Given the description of an element on the screen output the (x, y) to click on. 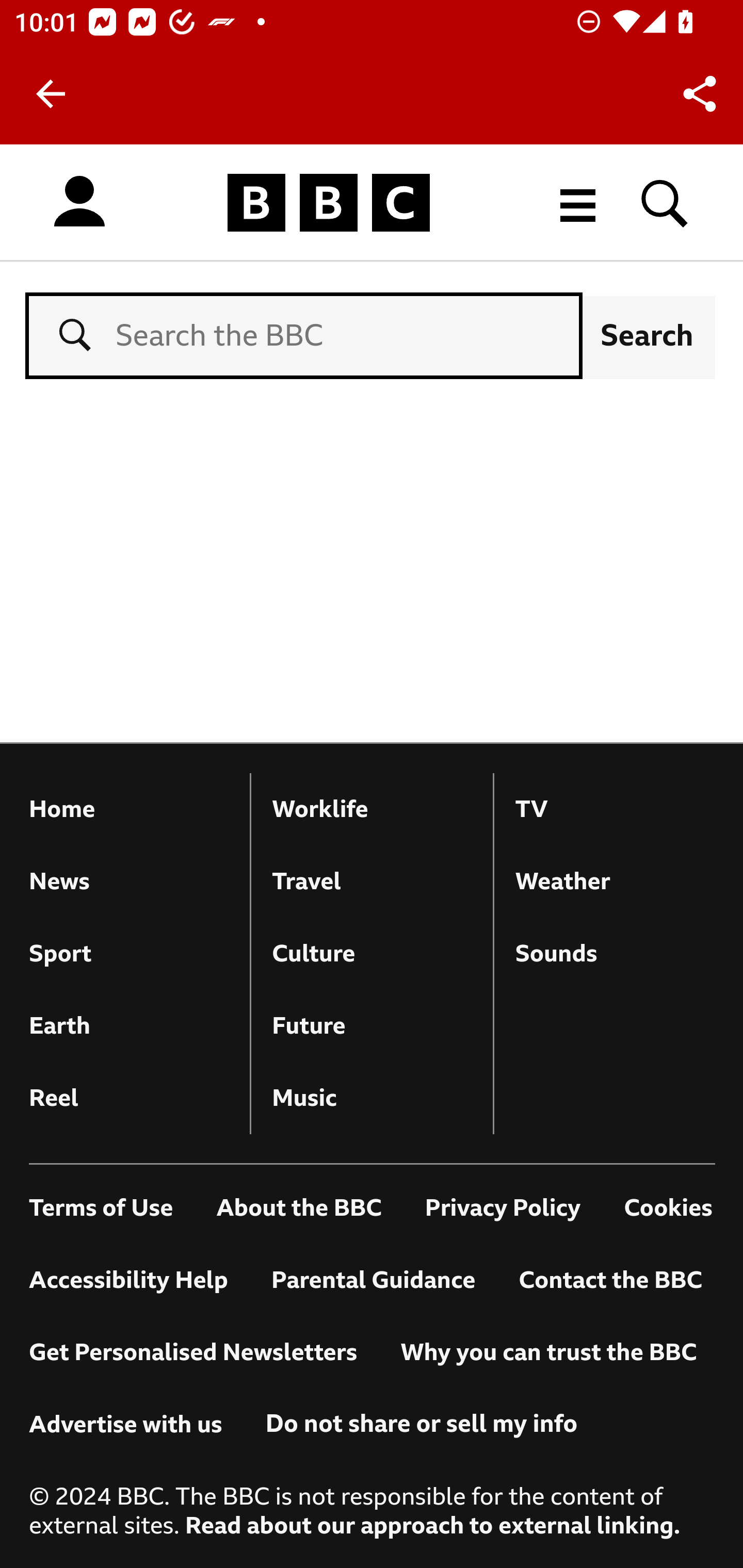
Back (50, 93)
Share (699, 93)
Sign in (79, 202)
BBC Homepage (329, 202)
More menu (578, 202)
Search BBC (665, 202)
Search (647, 335)
Home (128, 809)
Worklife (372, 809)
TV (615, 809)
News (128, 881)
Travel (372, 881)
Weather (615, 881)
Sport (128, 953)
Culture (372, 953)
Sounds (615, 953)
Earth (128, 1026)
Future (372, 1026)
Reel (128, 1098)
Music (372, 1098)
Terms of Use (101, 1207)
About the BBC (298, 1207)
Privacy Policy (502, 1207)
Cookies (667, 1207)
Accessibility Help (129, 1280)
Parental Guidance (373, 1280)
Contact the BBC (610, 1280)
Get Personalised Newsletters (193, 1352)
Why you can trust the BBC (548, 1352)
Advertise with us (126, 1424)
Do not share or sell my info (420, 1423)
Read about our approach to external linking. (432, 1524)
